Given the description of an element on the screen output the (x, y) to click on. 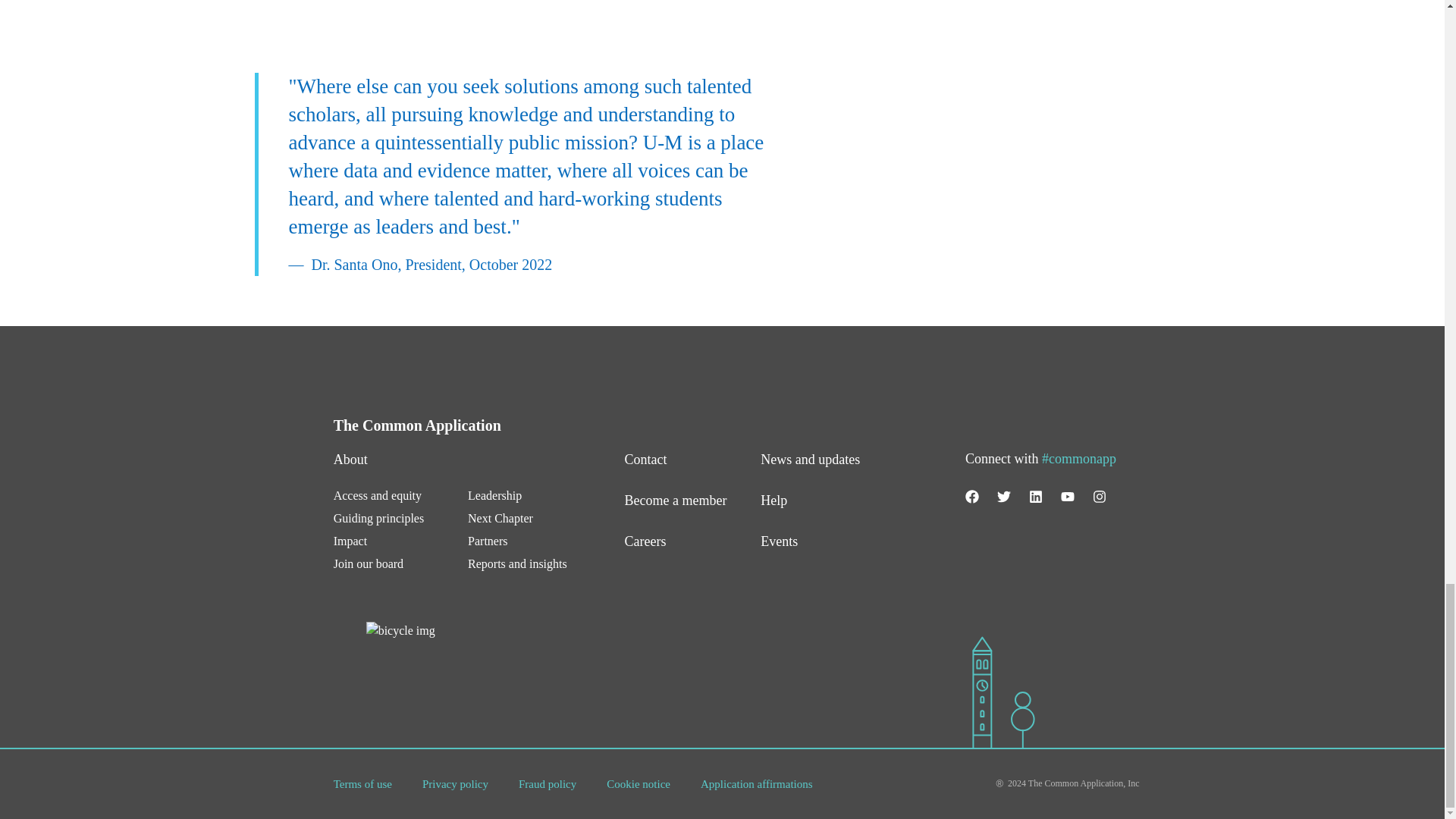
LinkedIn icon (1035, 496)
Facebook icon (971, 496)
Twitter icon (1003, 496)
Instagram icon (1099, 496)
Youtube icon (1067, 496)
